Given the description of an element on the screen output the (x, y) to click on. 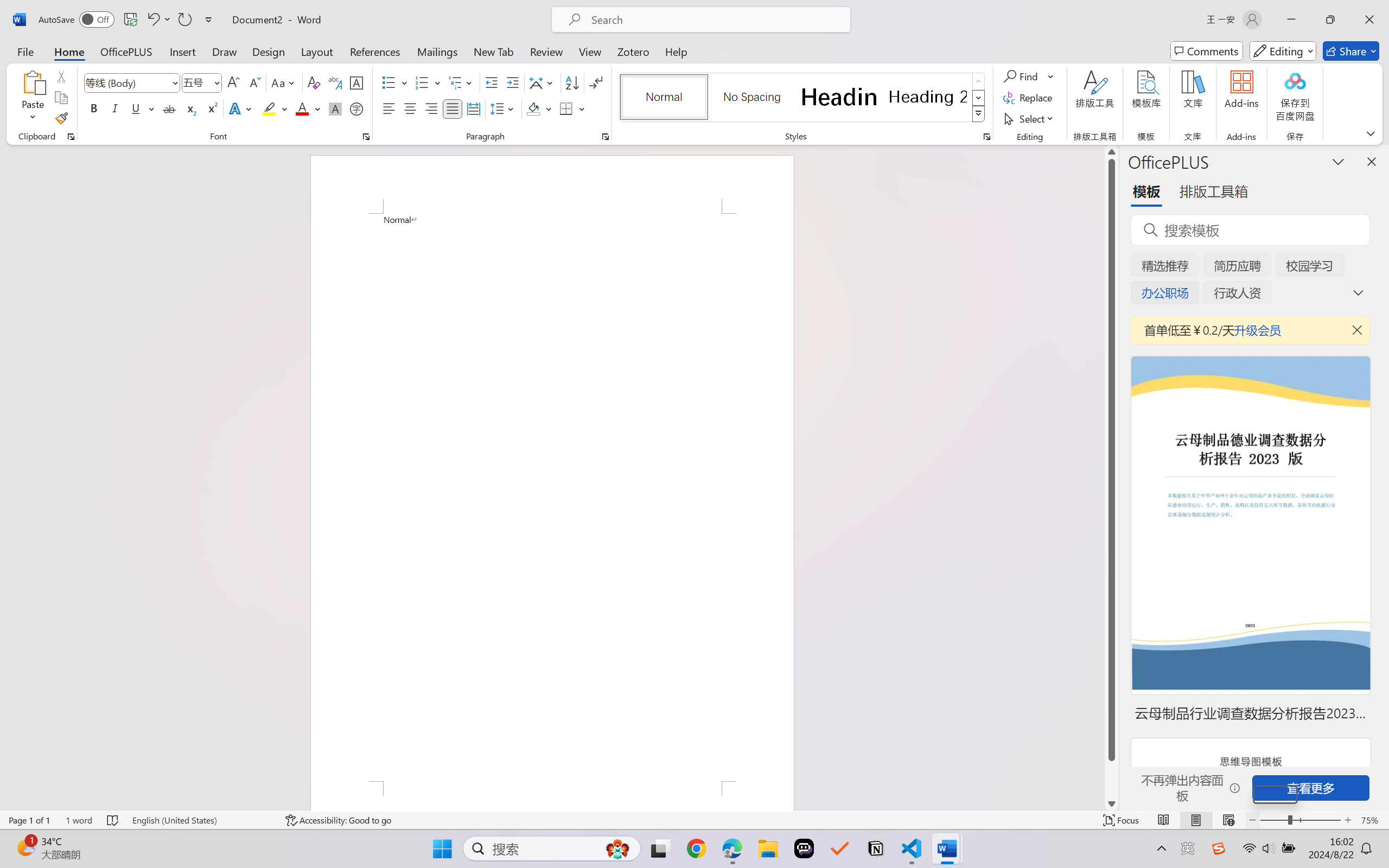
Asian Layout (542, 82)
Focus  (1121, 819)
View (589, 51)
More Options (1051, 75)
Bullets (395, 82)
Font (126, 82)
Spelling and Grammar Check No Errors (113, 819)
Page 1 content (551, 497)
Zotero (632, 51)
Character Border (356, 82)
